Given the description of an element on the screen output the (x, y) to click on. 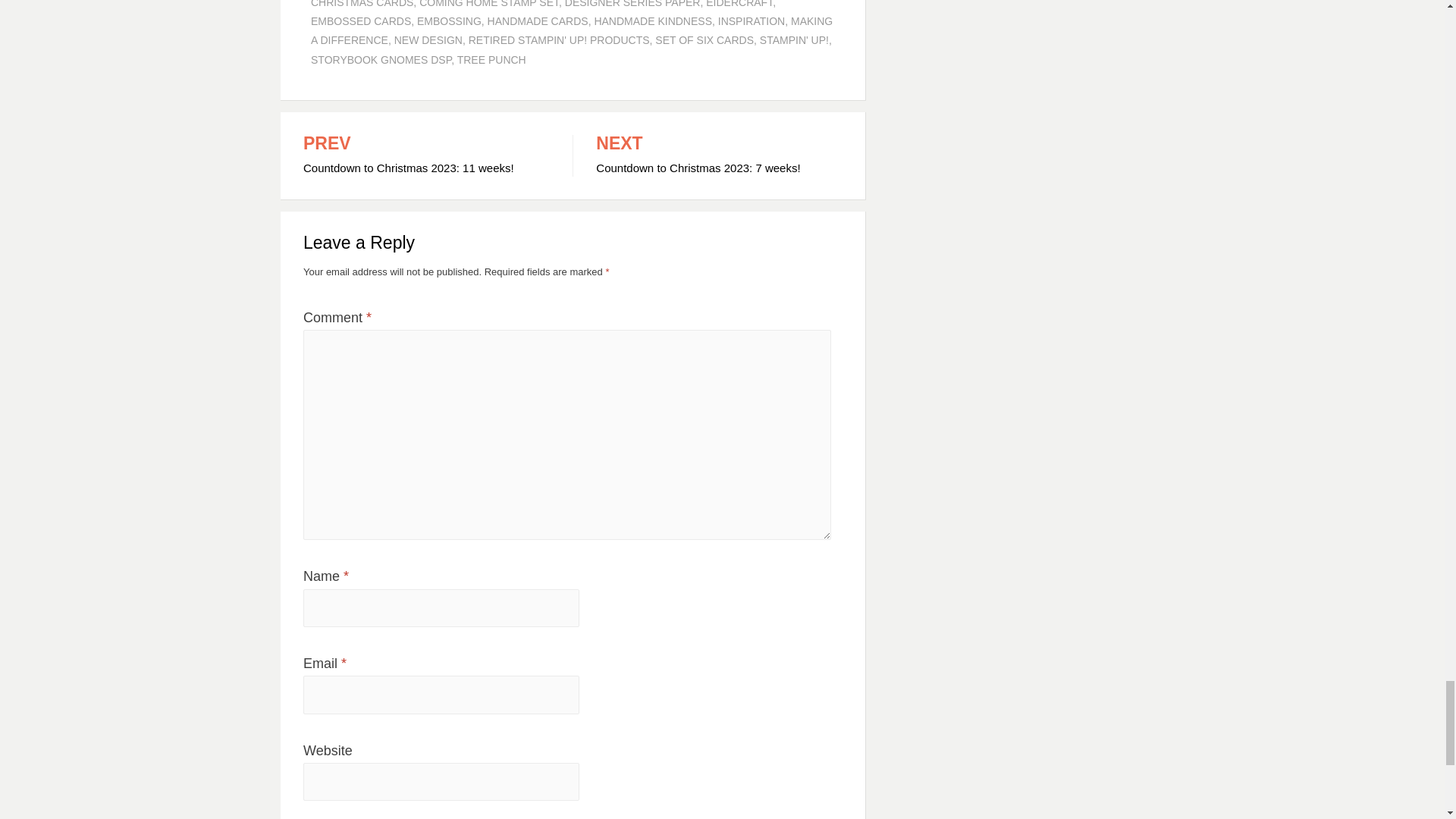
RETIRED STAMPIN' UP! PRODUCTS (558, 39)
COMING HOME STAMP SET (489, 4)
EMBOSSING (448, 21)
NEW DESIGN (428, 39)
CHRISTMAS CARDS (362, 4)
EIDERCRAFT (739, 4)
HANDMADE CARDS (537, 21)
INSPIRATION (750, 21)
SET OF SIX CARDS (704, 39)
DESIGNER SERIES PAPER (632, 4)
